Given the description of an element on the screen output the (x, y) to click on. 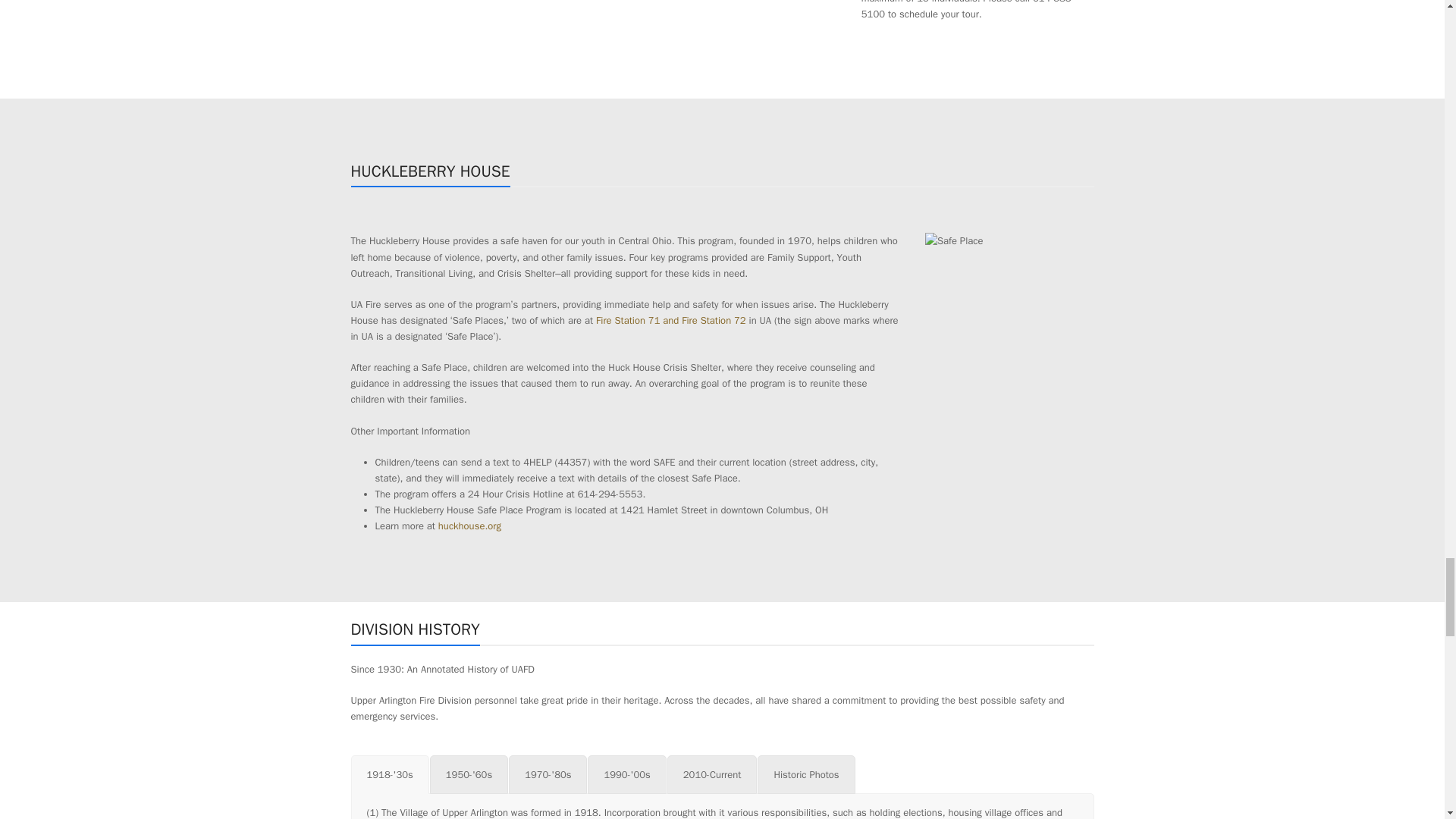
Safe Place (954, 240)
